Given the description of an element on the screen output the (x, y) to click on. 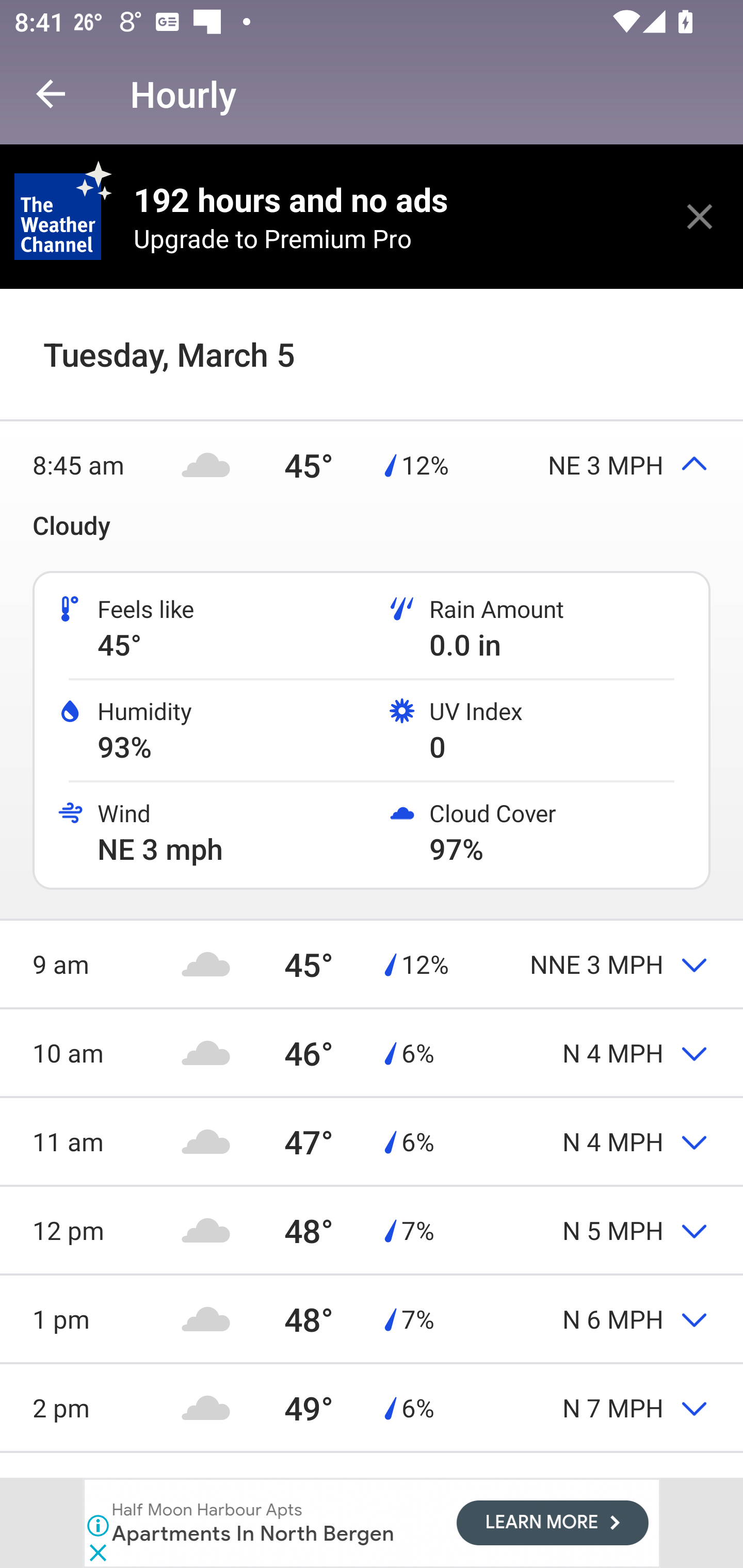
Navigate up (50, 93)
close this (699, 216)
8:45 am 45° 12% NE 3 MPH (371, 464)
9 am 45° 12% NNE 3 MPH (371, 963)
10 am 46° 6% N 4 MPH (371, 1052)
11 am 47° 6% N 4 MPH (371, 1141)
12 pm 48° 7% N 5 MPH (371, 1229)
1 pm 48° 7% N 6 MPH (371, 1318)
2 pm 49° 6% N 7 MPH (371, 1407)
Half Moon Harbour Apts (207, 1510)
LEARN MORE (551, 1522)
Apartments In North Bergen (252, 1533)
